Given the description of an element on the screen output the (x, y) to click on. 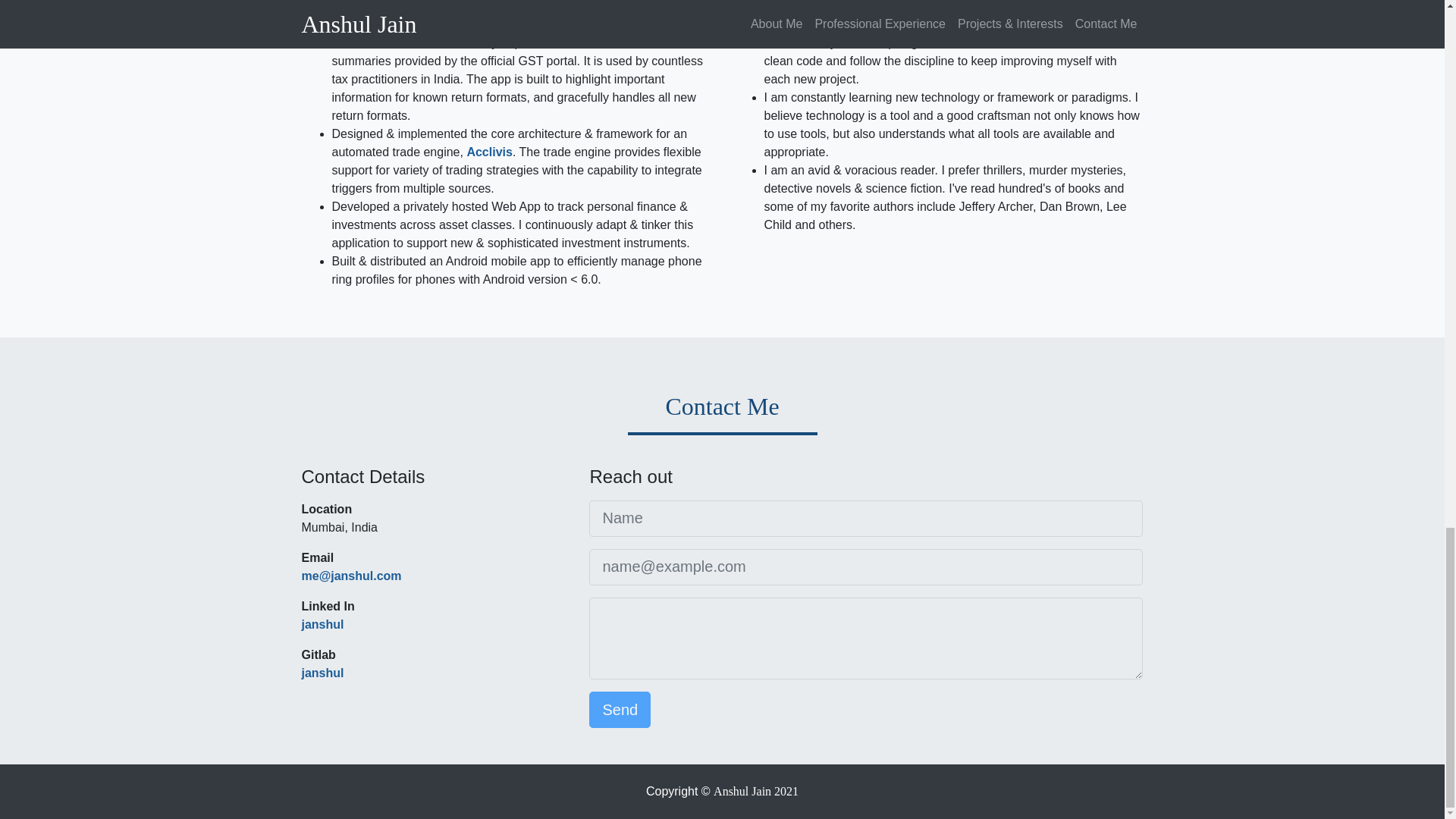
Send (619, 709)
GST Utilities (394, 42)
janshul (322, 624)
janshul (322, 672)
